Given the description of an element on the screen output the (x, y) to click on. 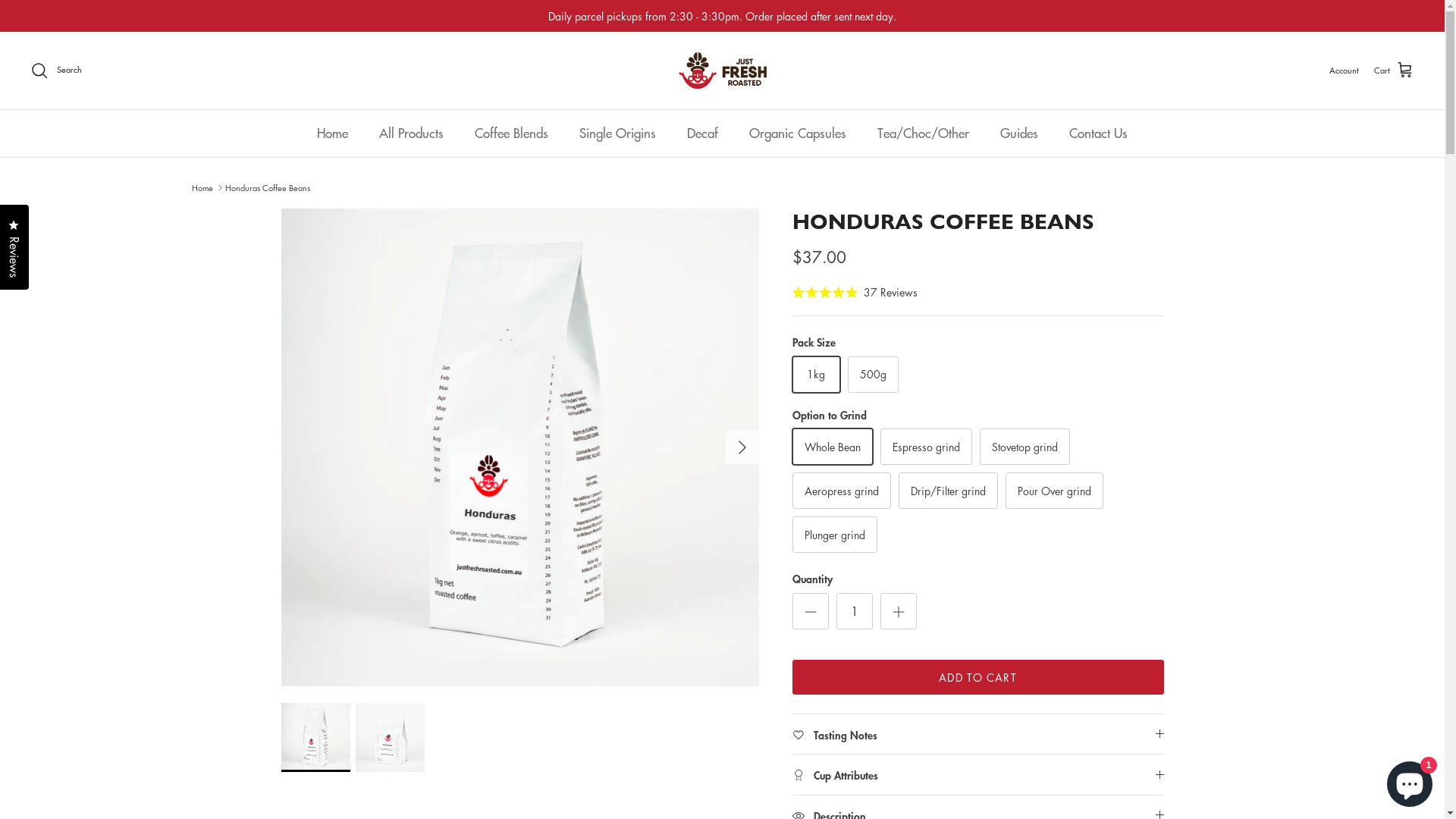
RIGHT Element type: text (741, 447)
Single Origins Element type: text (617, 132)
Guides Element type: text (1018, 132)
Tea/Choc/Other Element type: text (922, 132)
Contact Us Element type: text (1098, 132)
Home Element type: text (201, 187)
Shopify online store chat Element type: hover (1409, 780)
Plus Element type: text (897, 611)
Home Element type: text (332, 132)
JustFreshRoasted Element type: hover (721, 70)
Decaf Element type: text (702, 132)
Minus Element type: text (809, 611)
Cart Element type: text (1394, 70)
All Products Element type: text (411, 132)
Organic Capsules Element type: text (797, 132)
Search Element type: text (55, 70)
Account Element type: text (1343, 70)
Coffee Blends Element type: text (511, 132)
ADD TO CART Element type: text (977, 676)
Honduras Coffee Beans Element type: text (267, 187)
